Given the description of an element on the screen output the (x, y) to click on. 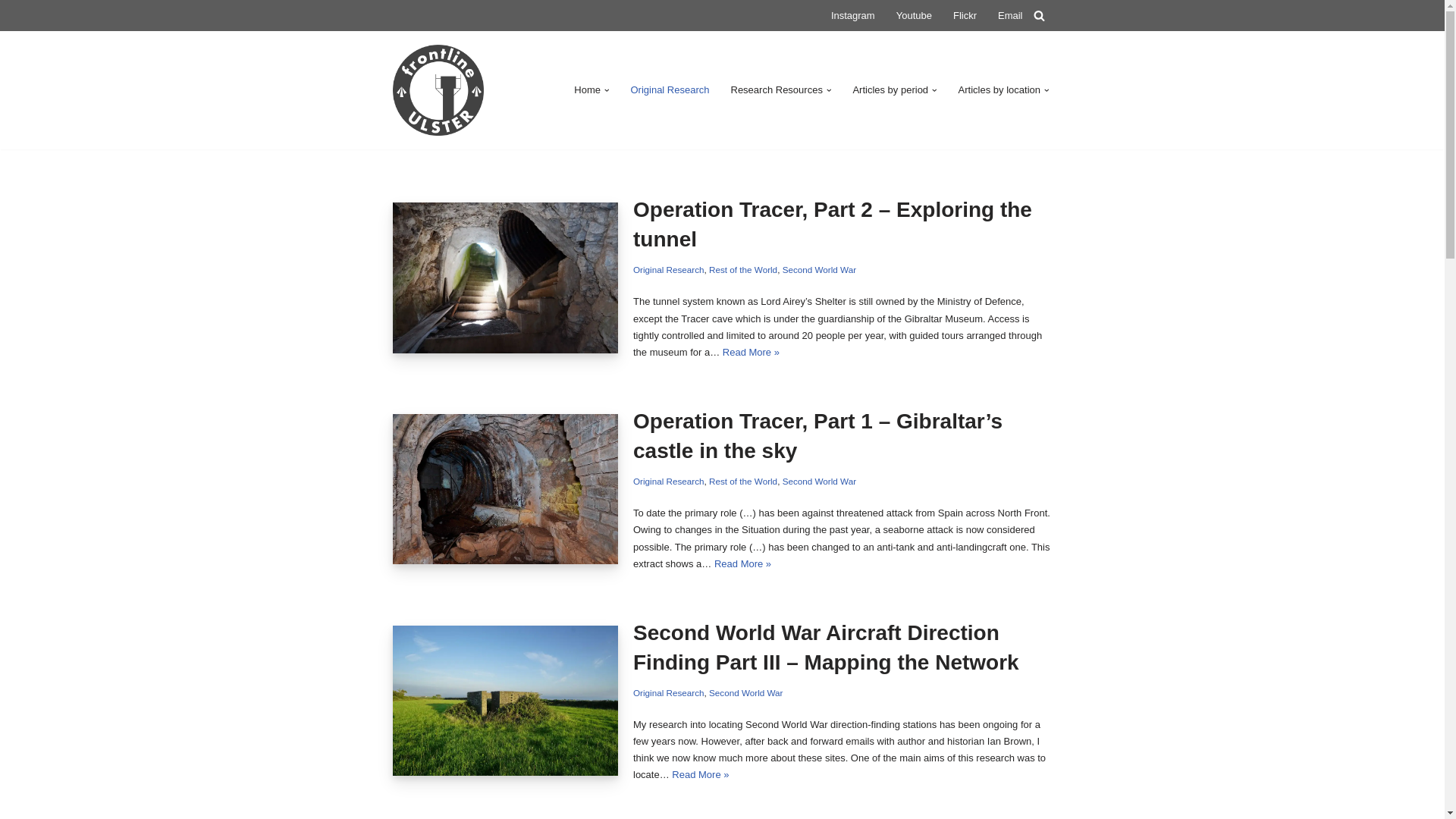
Original Research (669, 89)
Home (586, 89)
Youtube (913, 15)
Instagram (853, 15)
Research Resources (776, 89)
Skip to content (11, 31)
Articles by period (889, 89)
Email (1010, 15)
Flickr (964, 15)
